Given the description of an element on the screen output the (x, y) to click on. 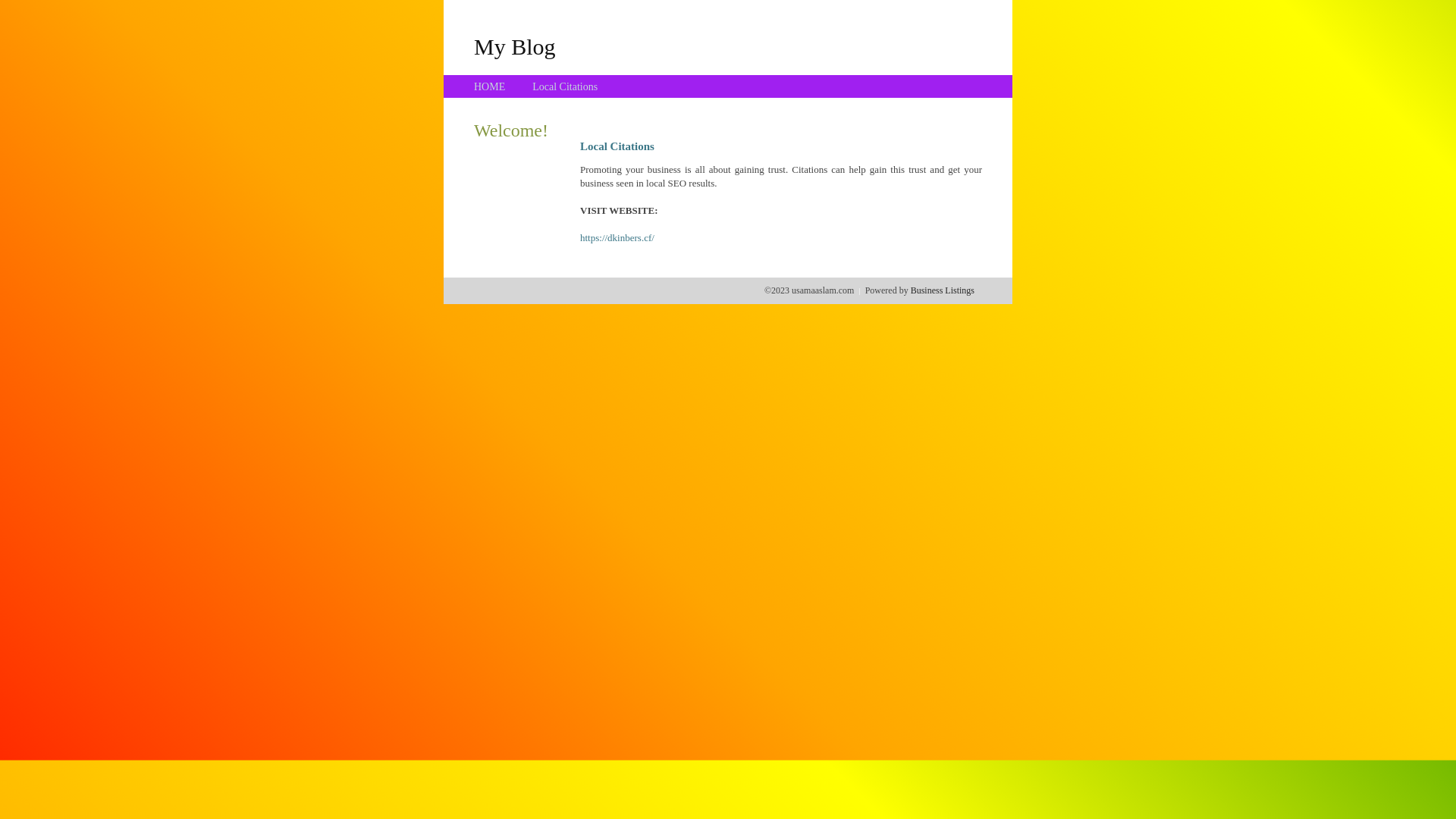
Business Listings Element type: text (942, 290)
https://dkinbers.cf/ Element type: text (617, 237)
My Blog Element type: text (514, 46)
Local Citations Element type: text (564, 86)
HOME Element type: text (489, 86)
